Given the description of an element on the screen output the (x, y) to click on. 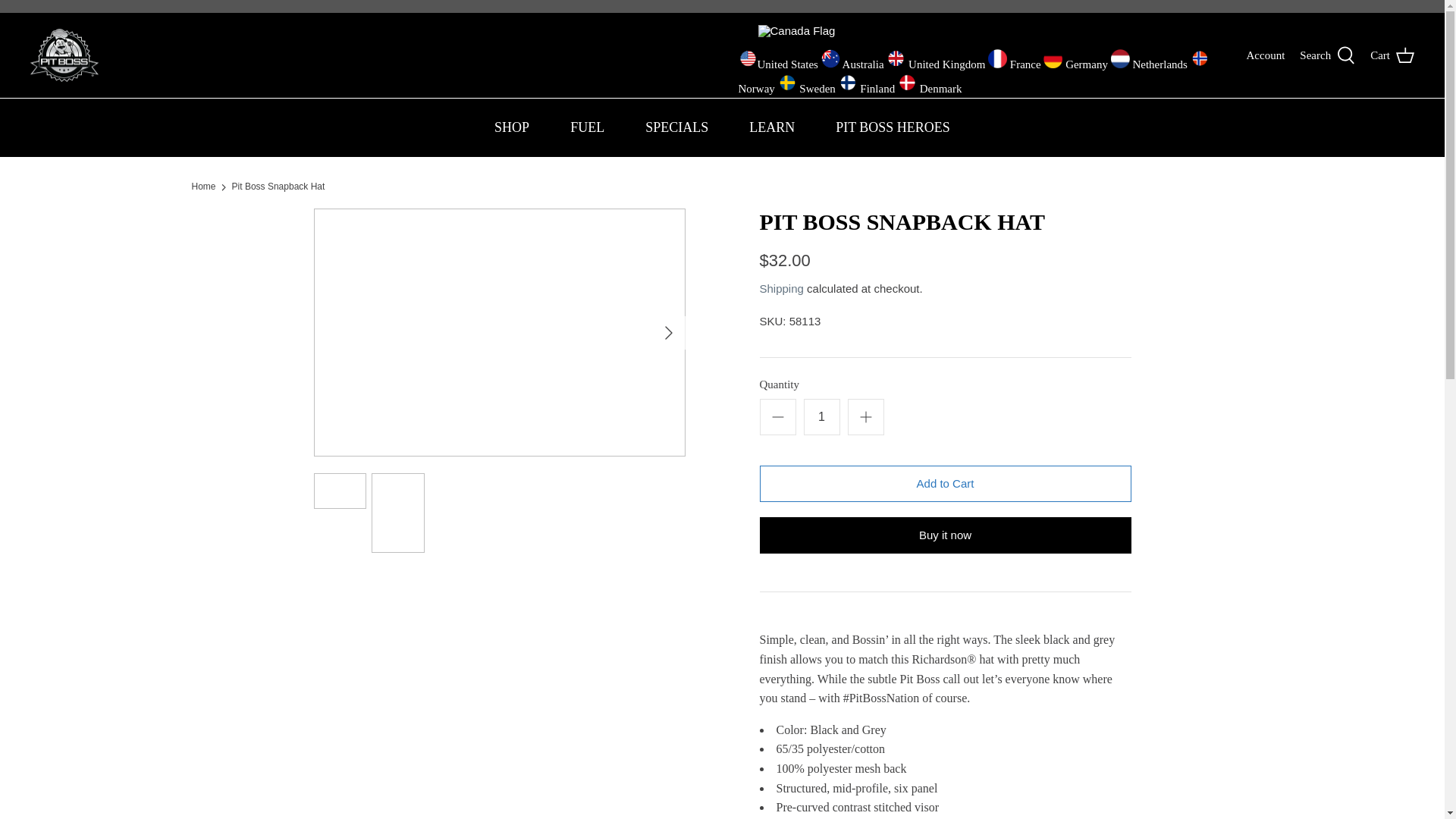
Plus (866, 416)
United States (778, 64)
Account (1265, 54)
Cart (1391, 55)
Denmark (930, 88)
Search (1327, 55)
Right (668, 332)
United Kingdom (935, 64)
Germany (1075, 64)
Finland (866, 88)
Pit Boss Grills Canada (64, 55)
1 (821, 416)
Minus (777, 416)
Norway (973, 76)
Netherlands (1149, 64)
